Given the description of an element on the screen output the (x, y) to click on. 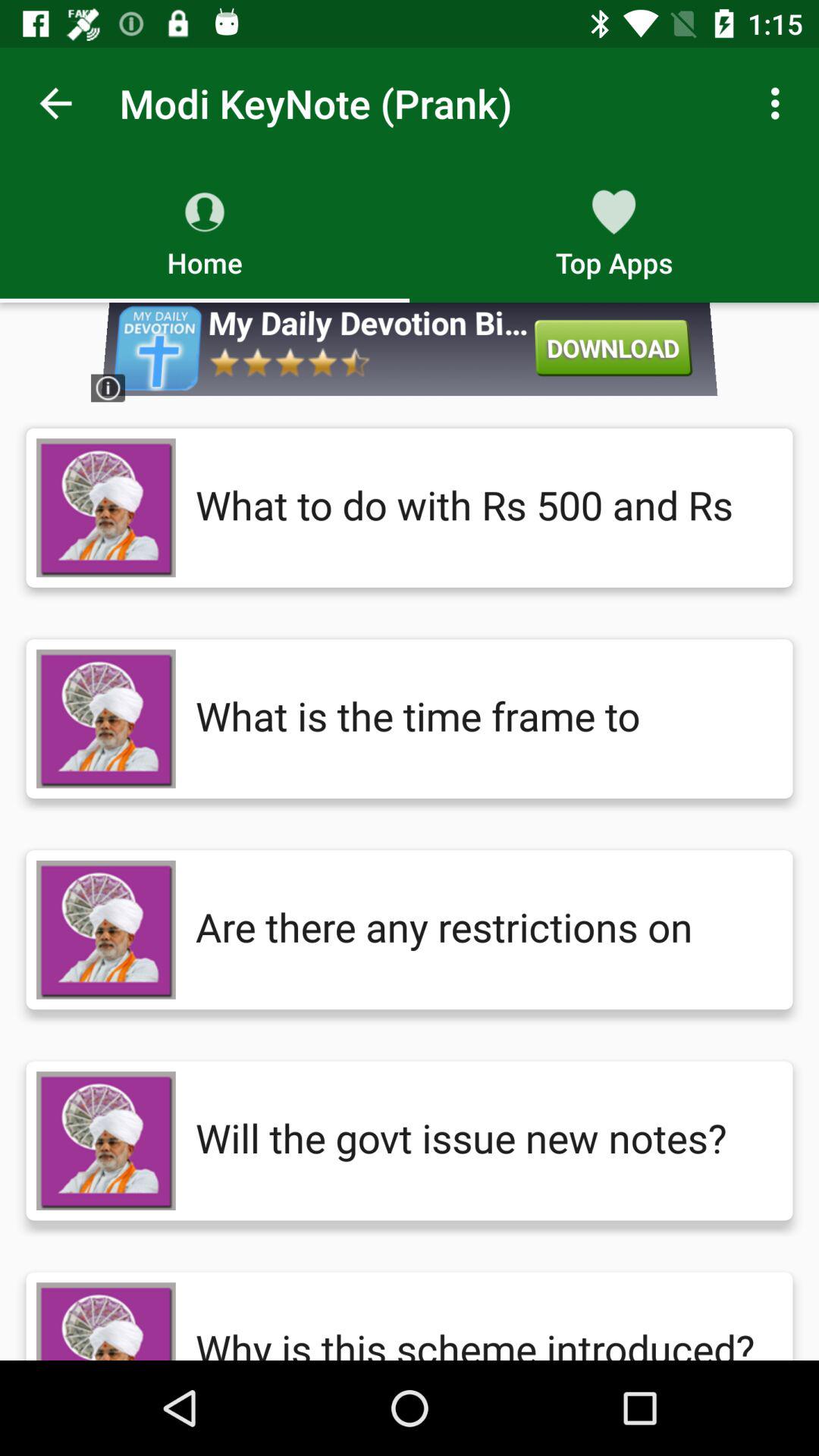
tap the will the govt (478, 1140)
